Given the description of an element on the screen output the (x, y) to click on. 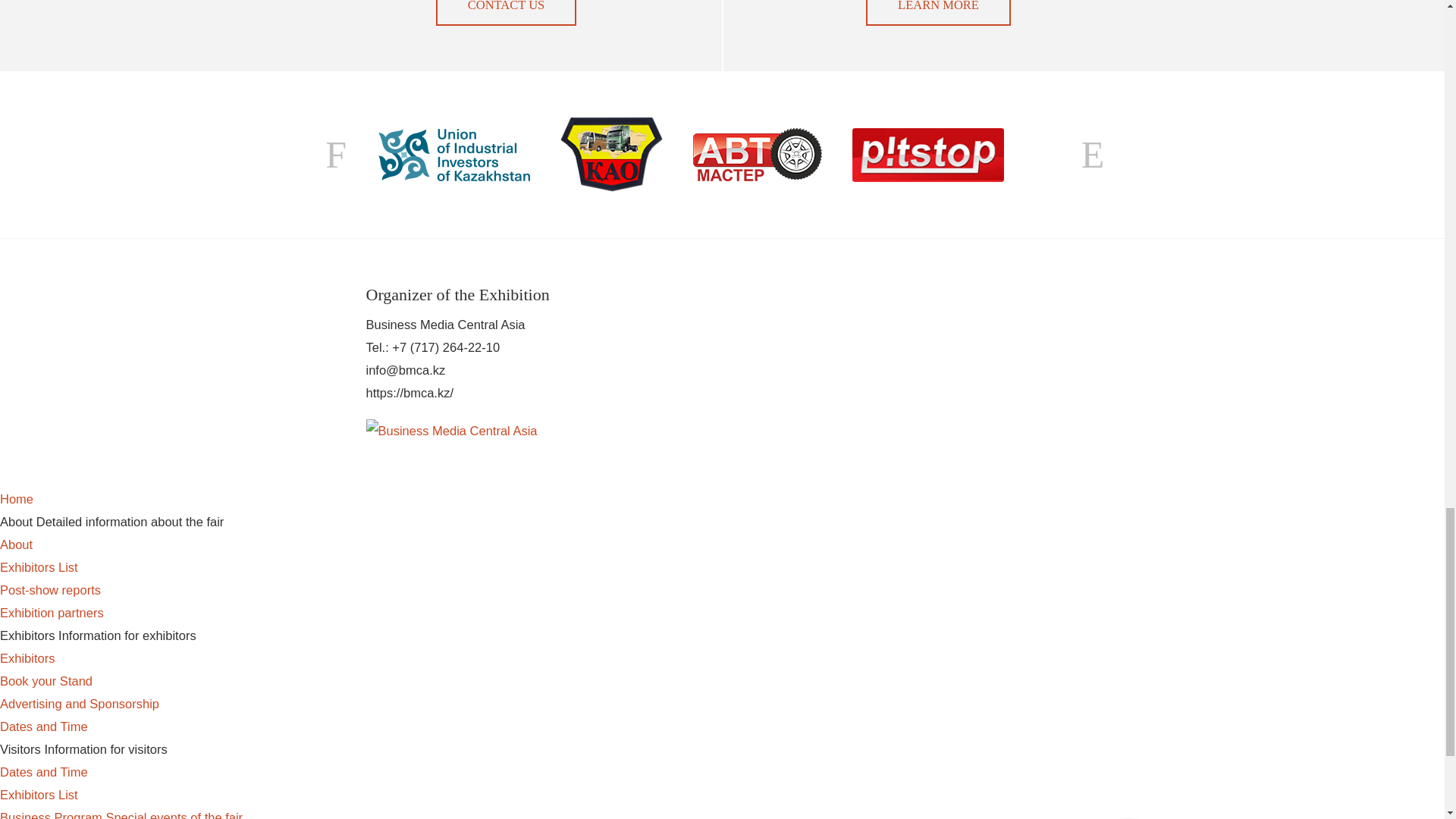
LEARN MORE (938, 12)
CONTACT US (505, 12)
